Given the description of an element on the screen output the (x, y) to click on. 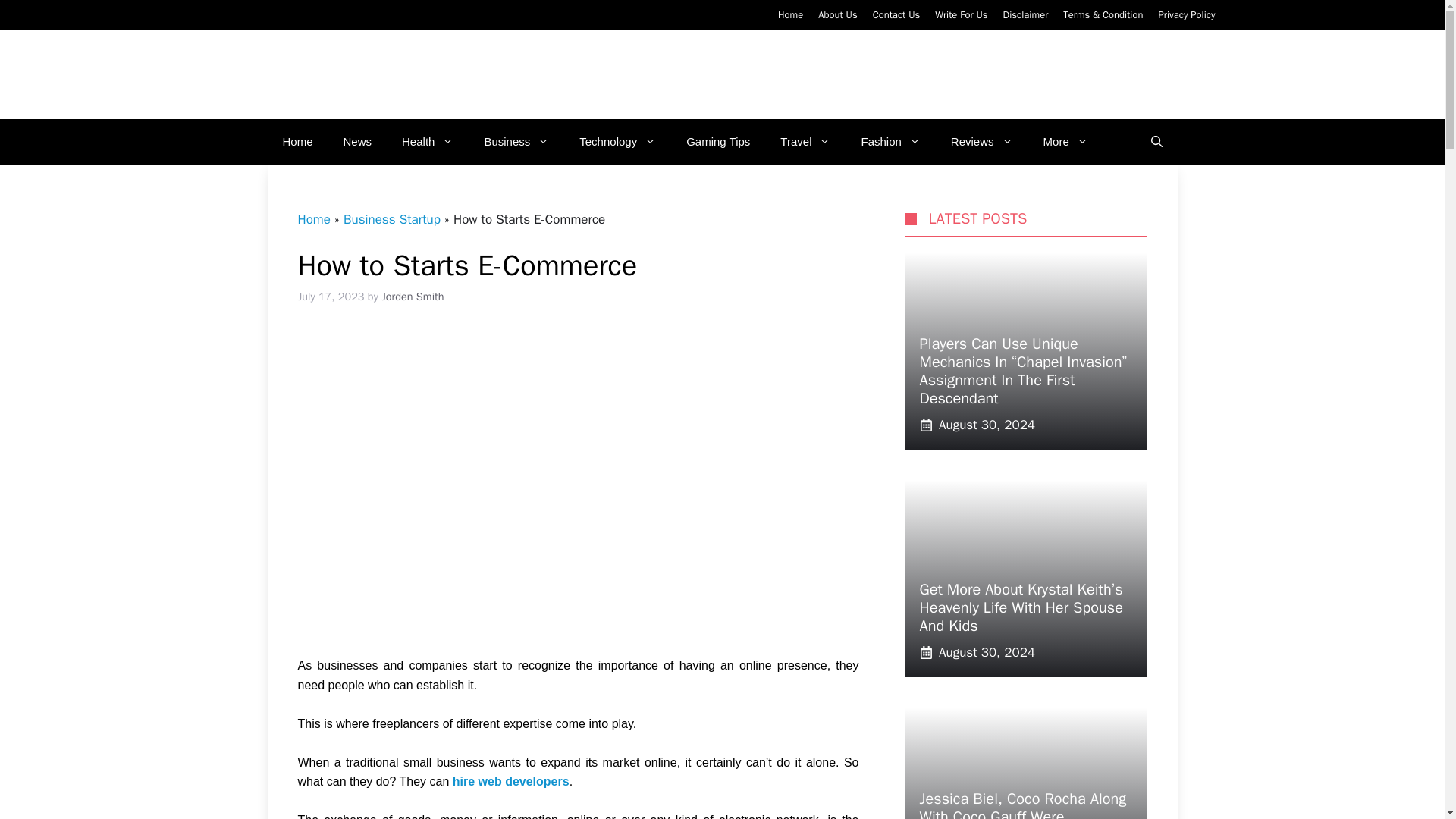
Disclaimer (1025, 14)
Privacy Policy (1185, 14)
Gaming Tips (718, 141)
Health (427, 141)
News (358, 141)
Fashion (889, 141)
Contact Us (896, 14)
View all posts by Jorden Smith (412, 296)
Home (790, 14)
Travel (805, 141)
